Given the description of an element on the screen output the (x, y) to click on. 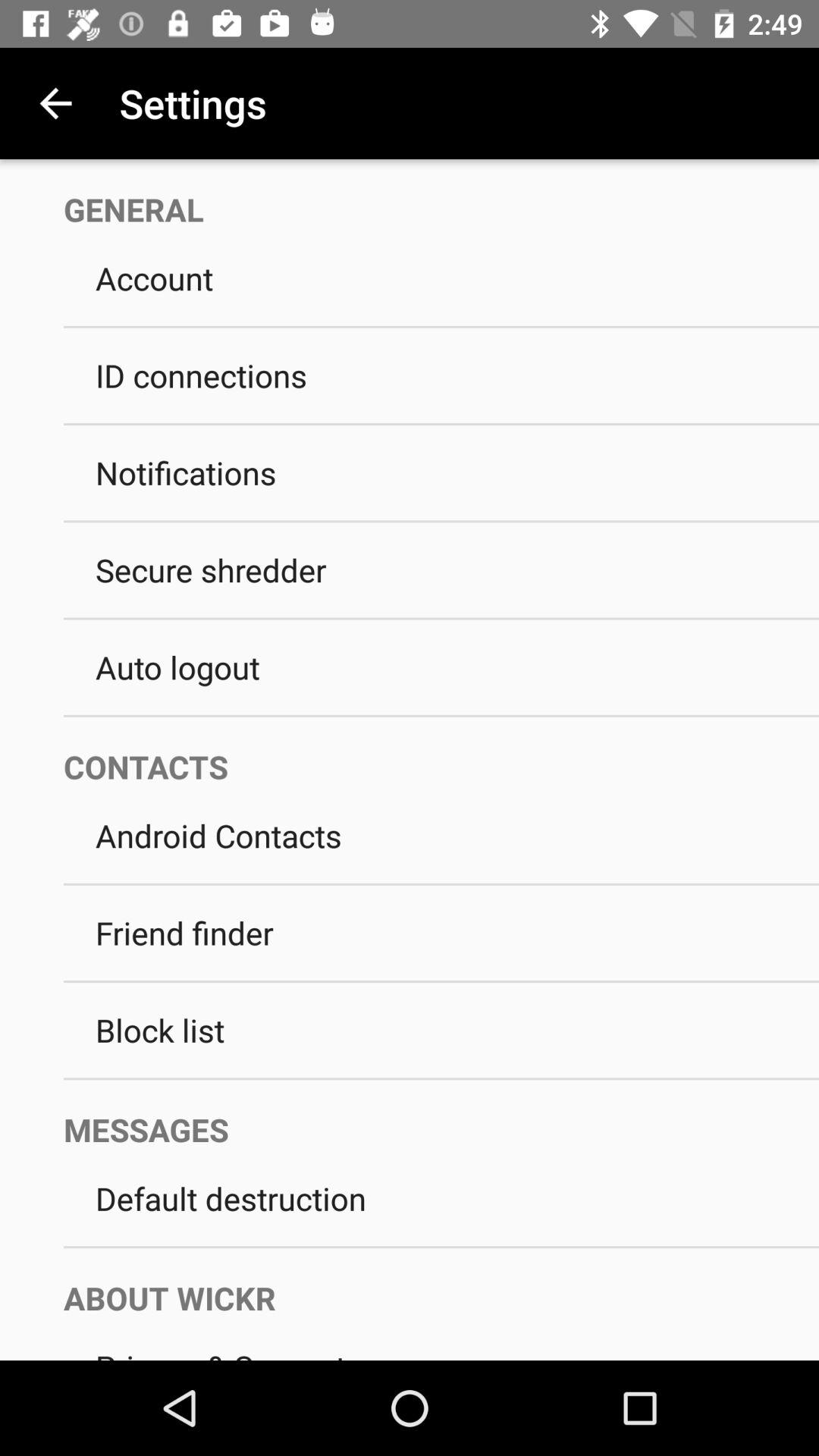
tap about wickr icon (425, 1283)
